Given the description of an element on the screen output the (x, y) to click on. 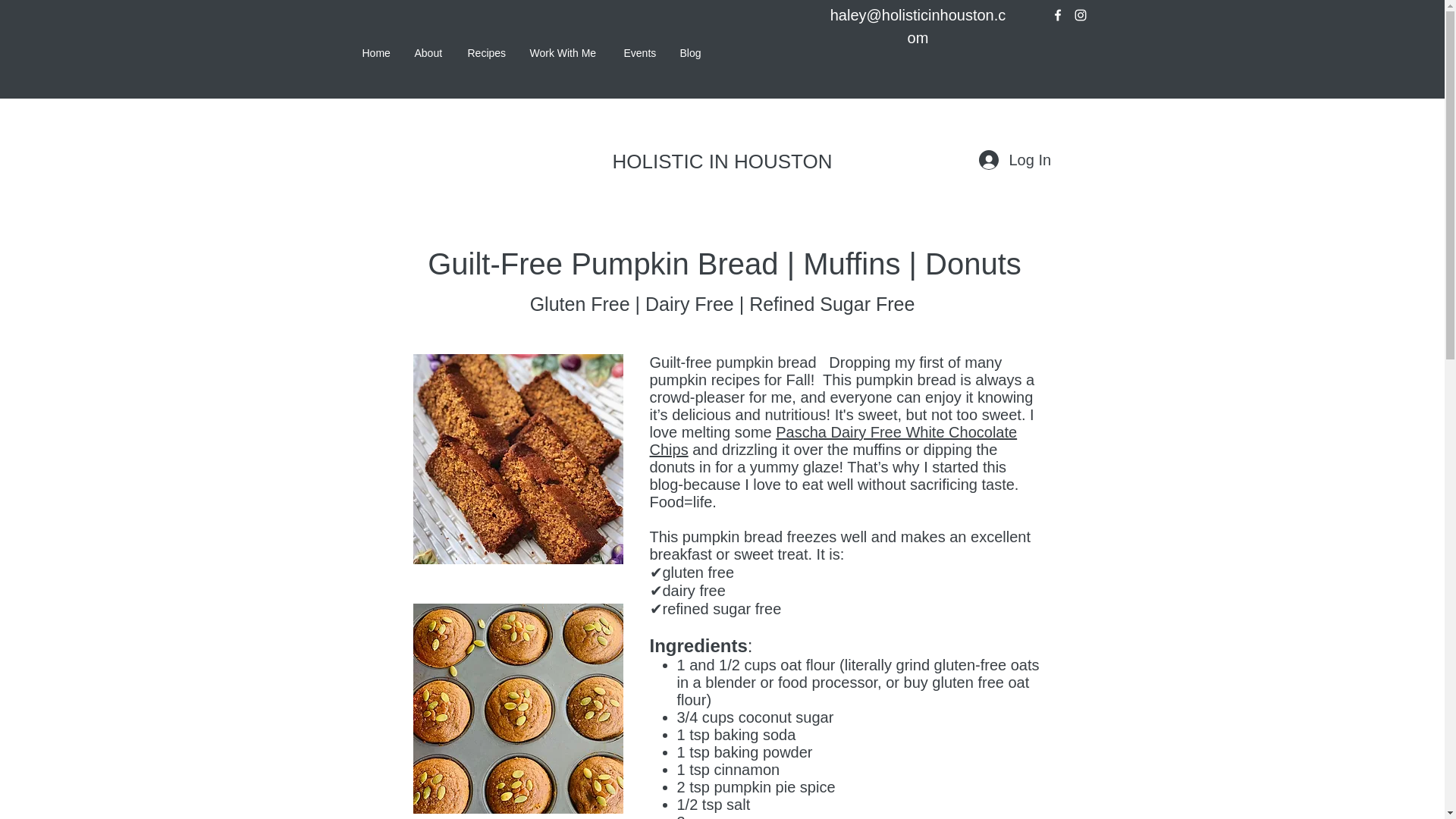
Log In (1013, 160)
About (430, 52)
Pascha Dairy Free White Chocolate Chips (832, 440)
Work With Me (565, 52)
HOLISTIC IN HOUSTON (722, 160)
Home (376, 52)
Blog (690, 52)
Recipes (487, 52)
Events (640, 52)
